Given the description of an element on the screen output the (x, y) to click on. 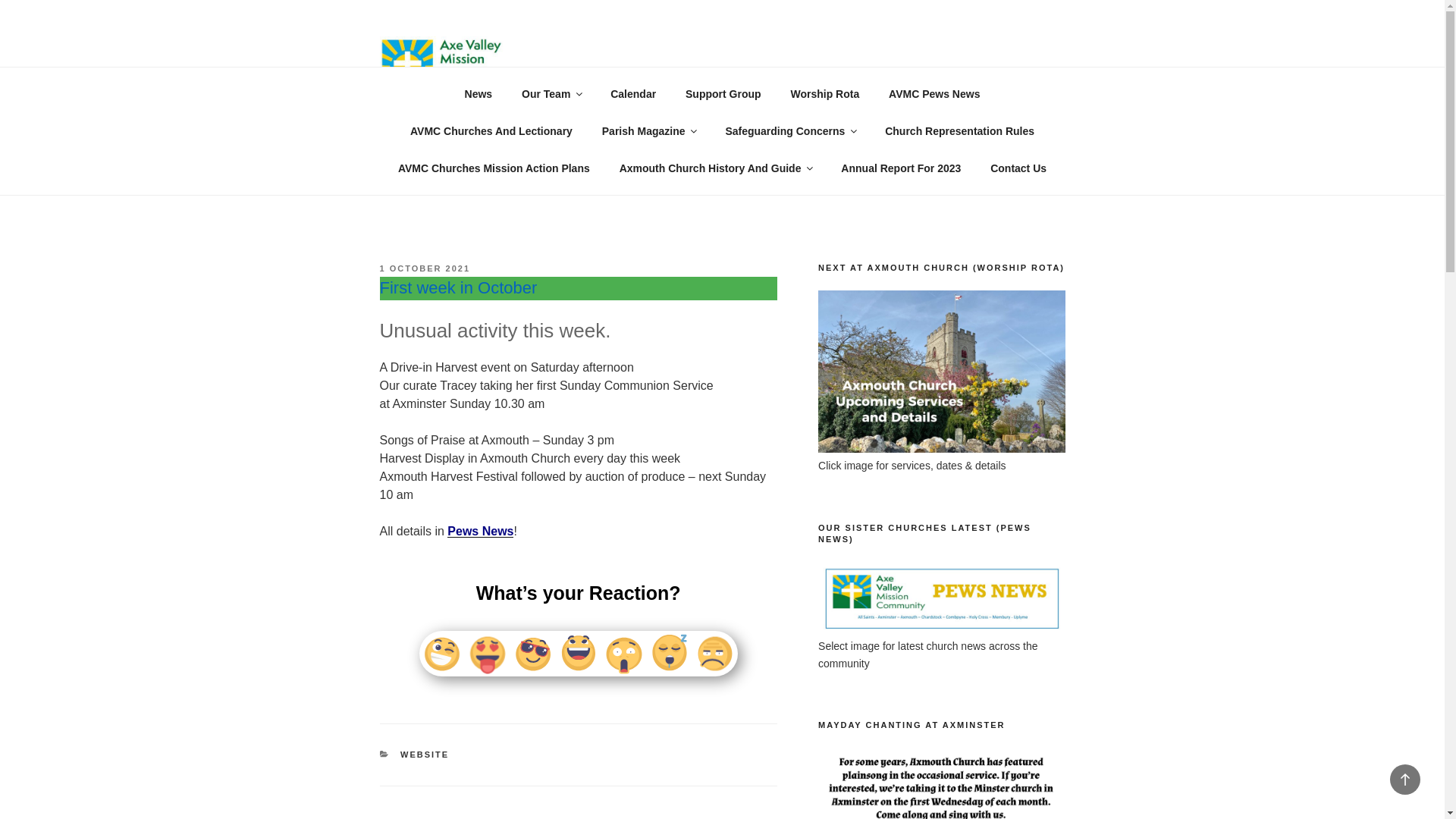
Church Representation Rules (960, 130)
News (478, 94)
AVMC Pews News (934, 94)
Our Team (551, 94)
Worship Rota (824, 94)
Parish Magazine (648, 130)
Calendar (632, 94)
Safeguarding Concerns (790, 130)
WELCOME TO AXMOUTH CHURCH (794, 60)
Axmouth Church History And Guide (715, 168)
AVMC Churches And Lectionary (490, 130)
AVMC Churches Mission Action Plans (493, 168)
Support Group (723, 94)
